Given the description of an element on the screen output the (x, y) to click on. 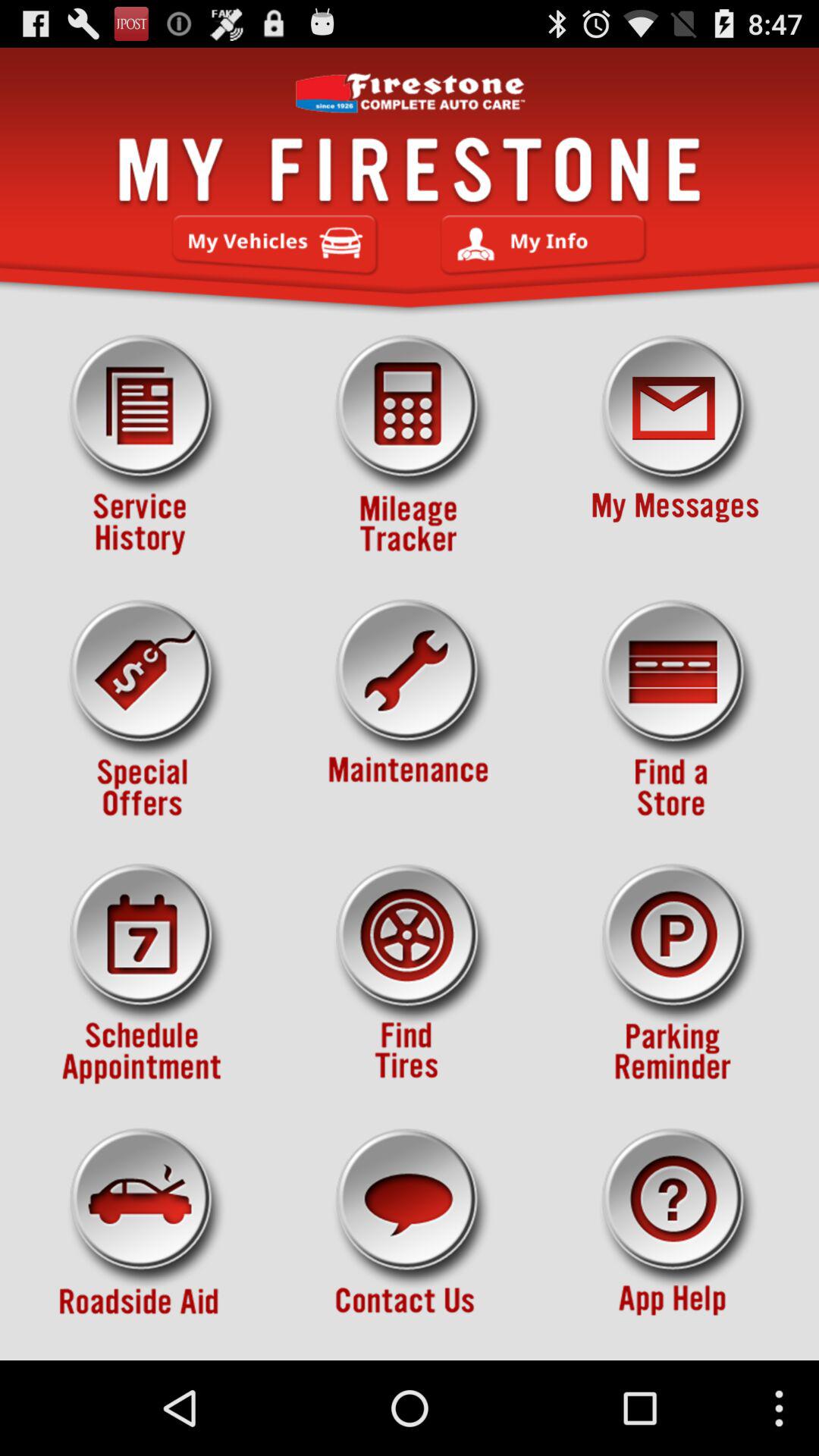
set date (143, 974)
